Given the description of an element on the screen output the (x, y) to click on. 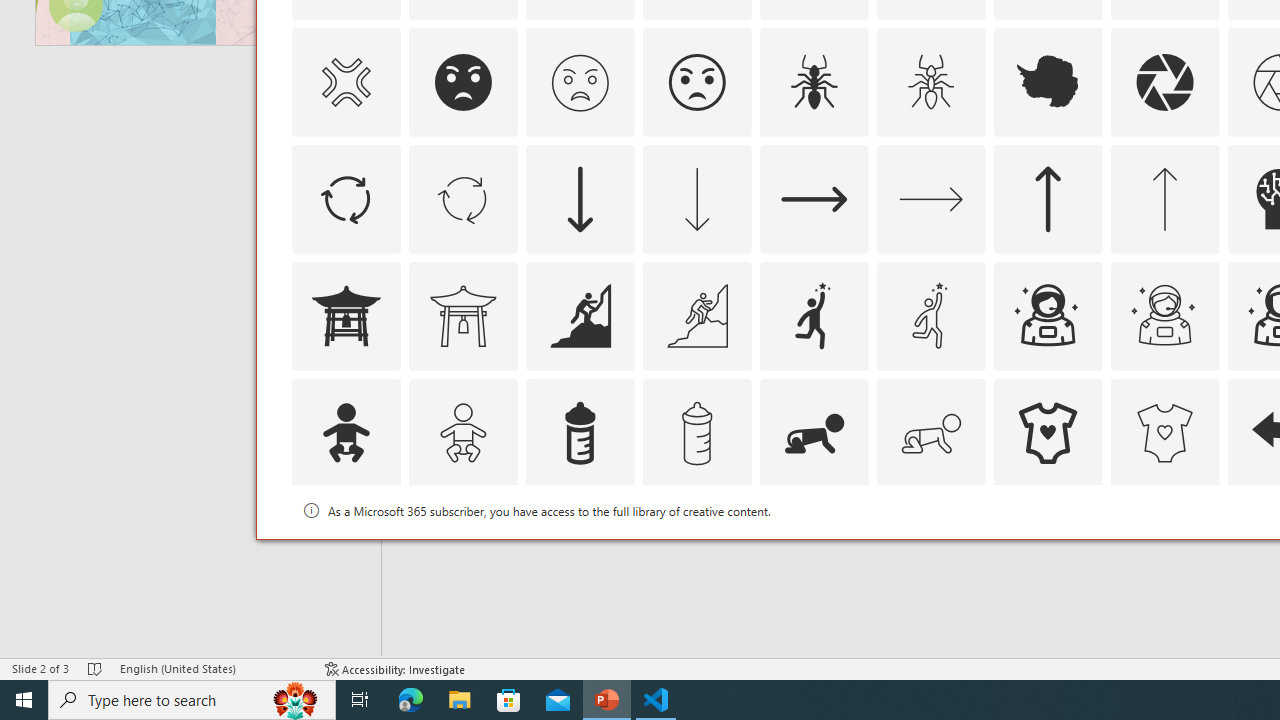
AutomationID: Icons_BabyCrawling_M (930, 432)
AutomationID: Icons (1048, 550)
AutomationID: Icons_Ant_M (930, 82)
AutomationID: Icons_Badge4_M (1048, 550)
AutomationID: Icons_ArrowDown_M (696, 198)
AutomationID: Icons_ArrowCircle (345, 198)
AutomationID: Icons_Badge2_M (579, 550)
